Given the description of an element on the screen output the (x, y) to click on. 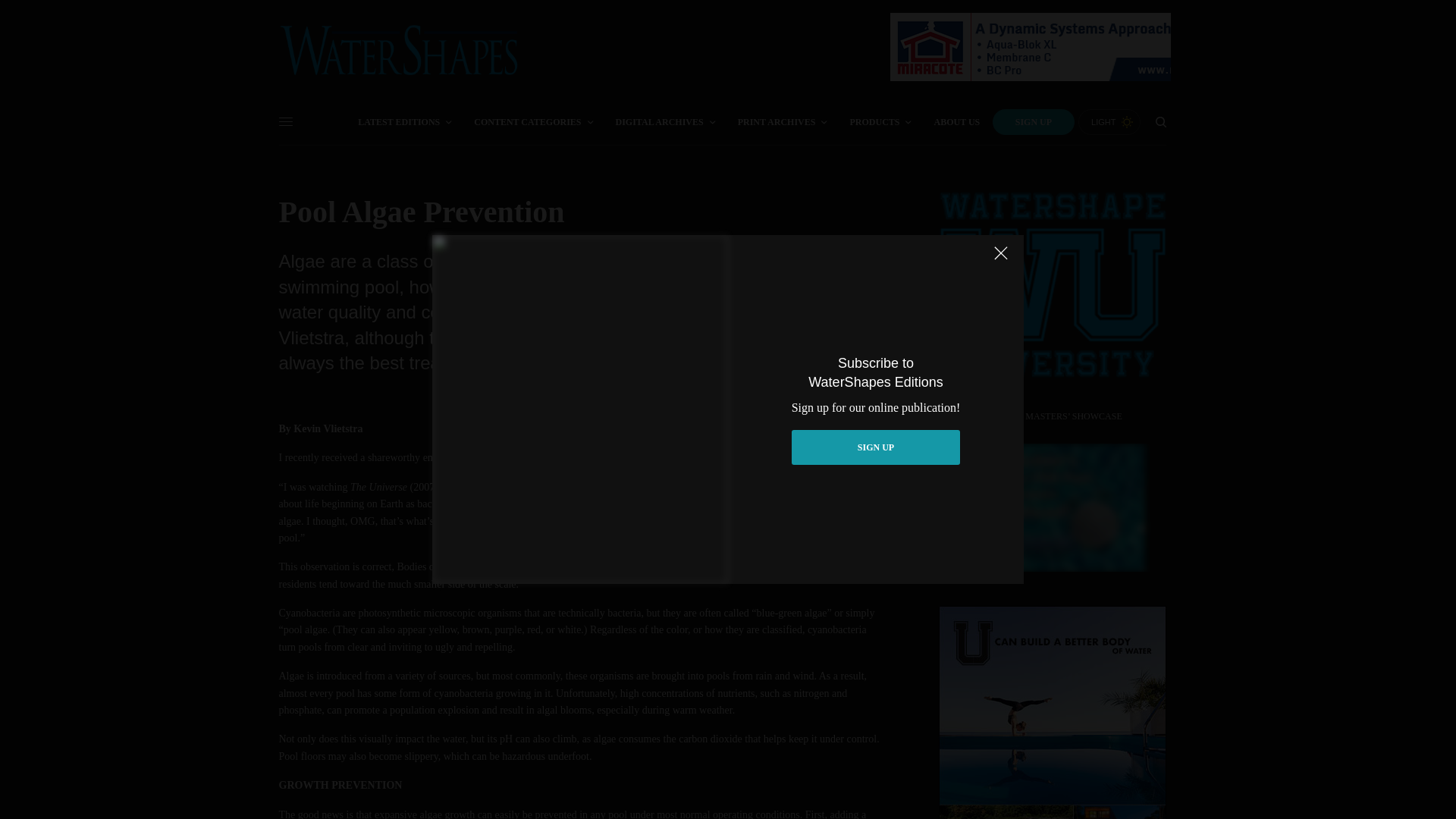
Water Shapes (399, 49)
CONTENT CATEGORIES (533, 121)
LATEST EDITIONS (404, 121)
SIGN UP (876, 447)
